Given the description of an element on the screen output the (x, y) to click on. 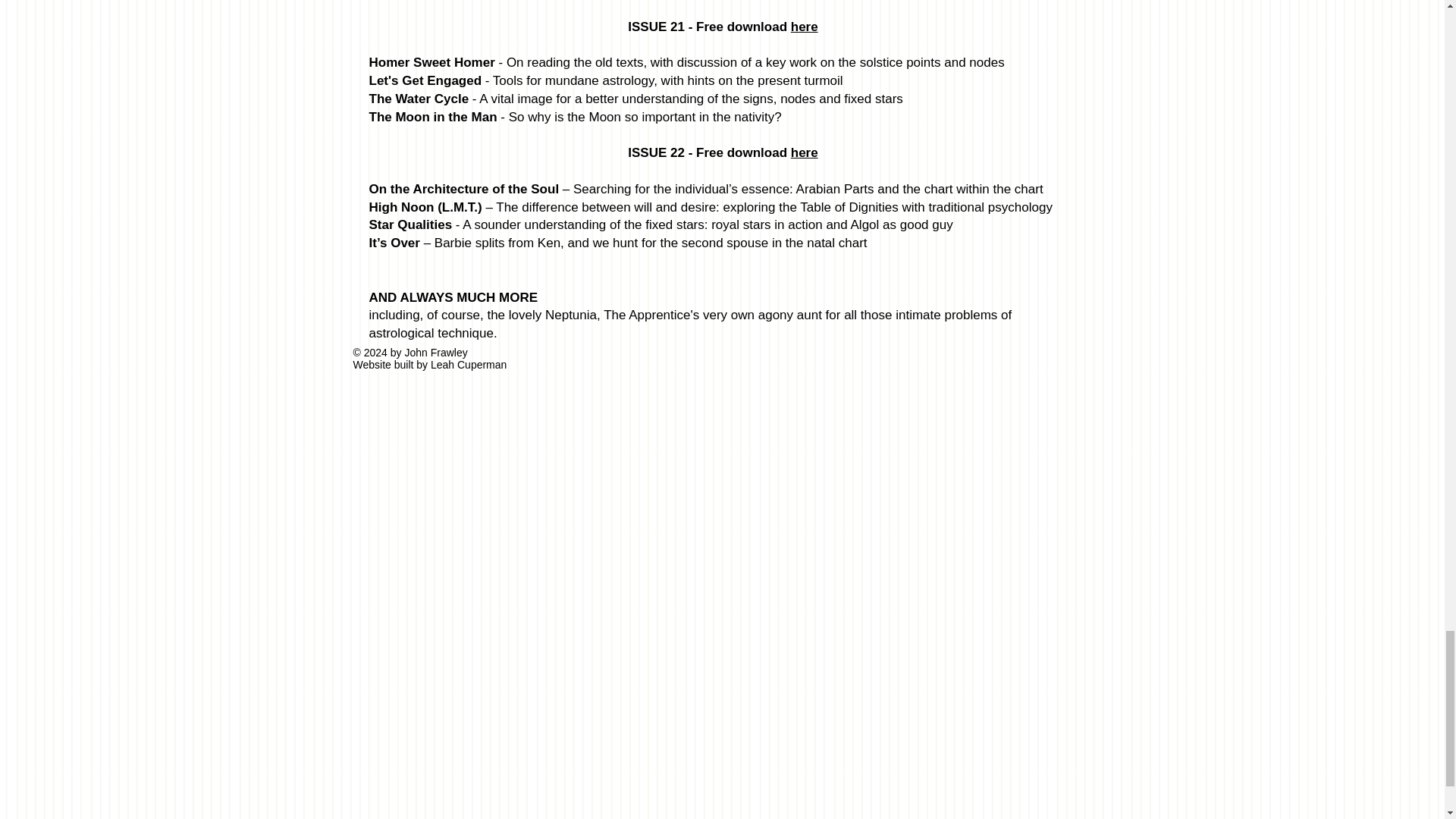
here (804, 152)
here (804, 26)
